Given the description of an element on the screen output the (x, y) to click on. 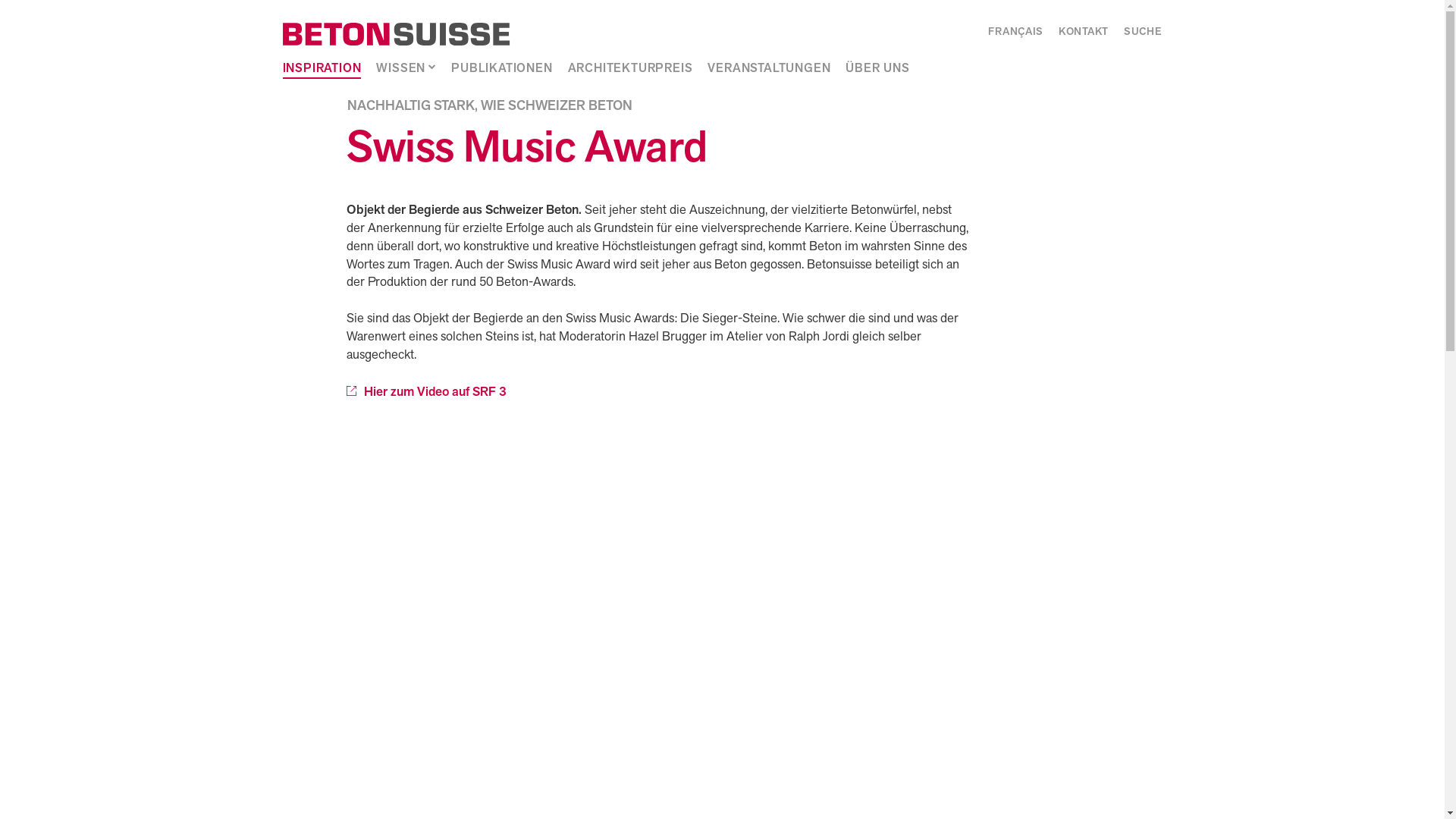
Hier zum Video auf SRF 3 Element type: text (426, 391)
INSPIRATION Element type: text (321, 69)
NACHHALTIG STARK, WIE SCHWEIZER BETON Element type: text (489, 105)
KONTAKT Element type: text (1083, 32)
WISSEN Element type: text (400, 69)
PUBLIKATIONEN Element type: text (501, 69)
ARCHITEKTURPREIS Element type: text (630, 69)
VERANSTALTUNGEN Element type: text (768, 69)
SUCHE Element type: text (1142, 32)
